Given the description of an element on the screen output the (x, y) to click on. 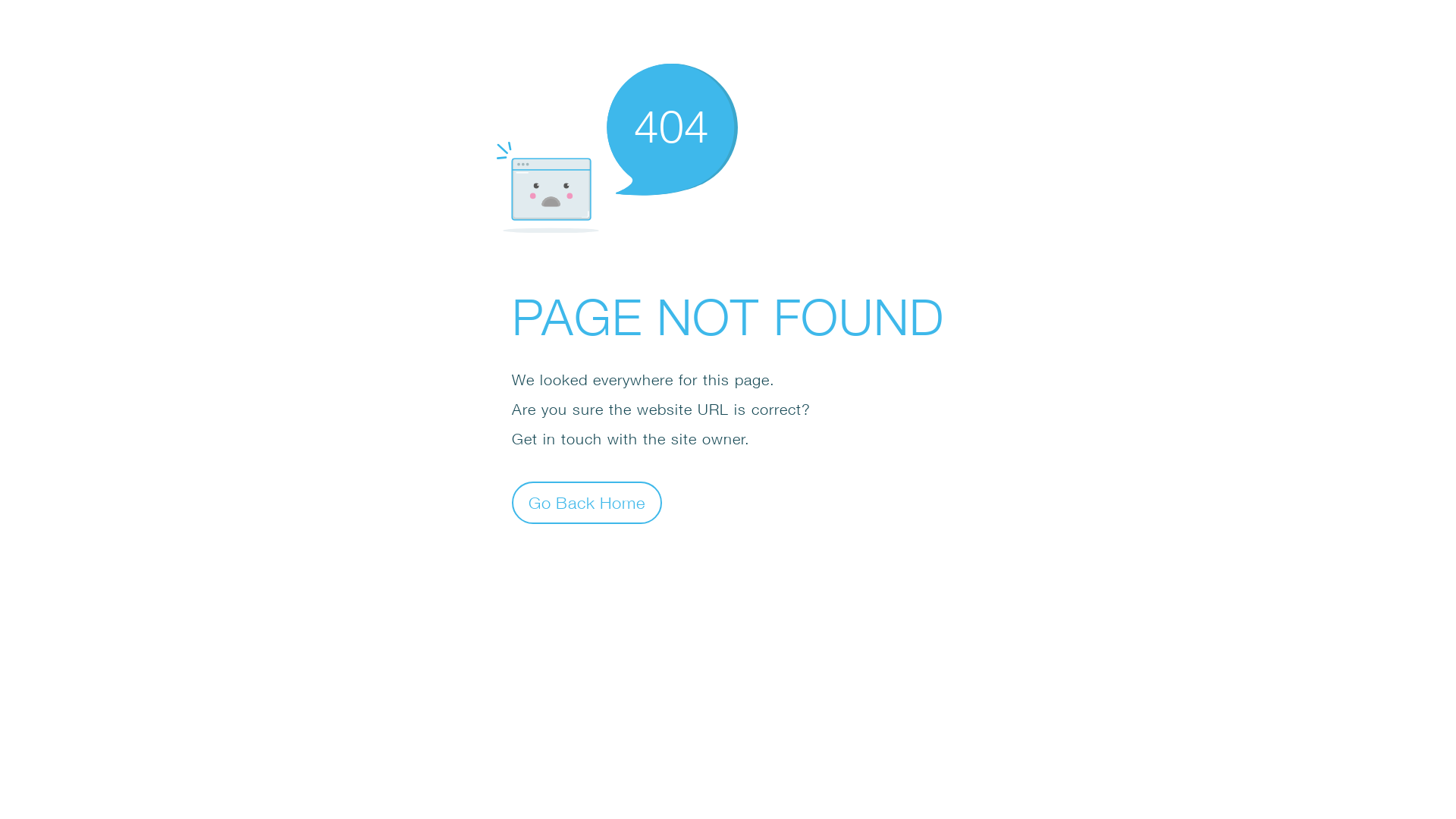
Go Back Home Element type: text (586, 502)
